Given the description of an element on the screen output the (x, y) to click on. 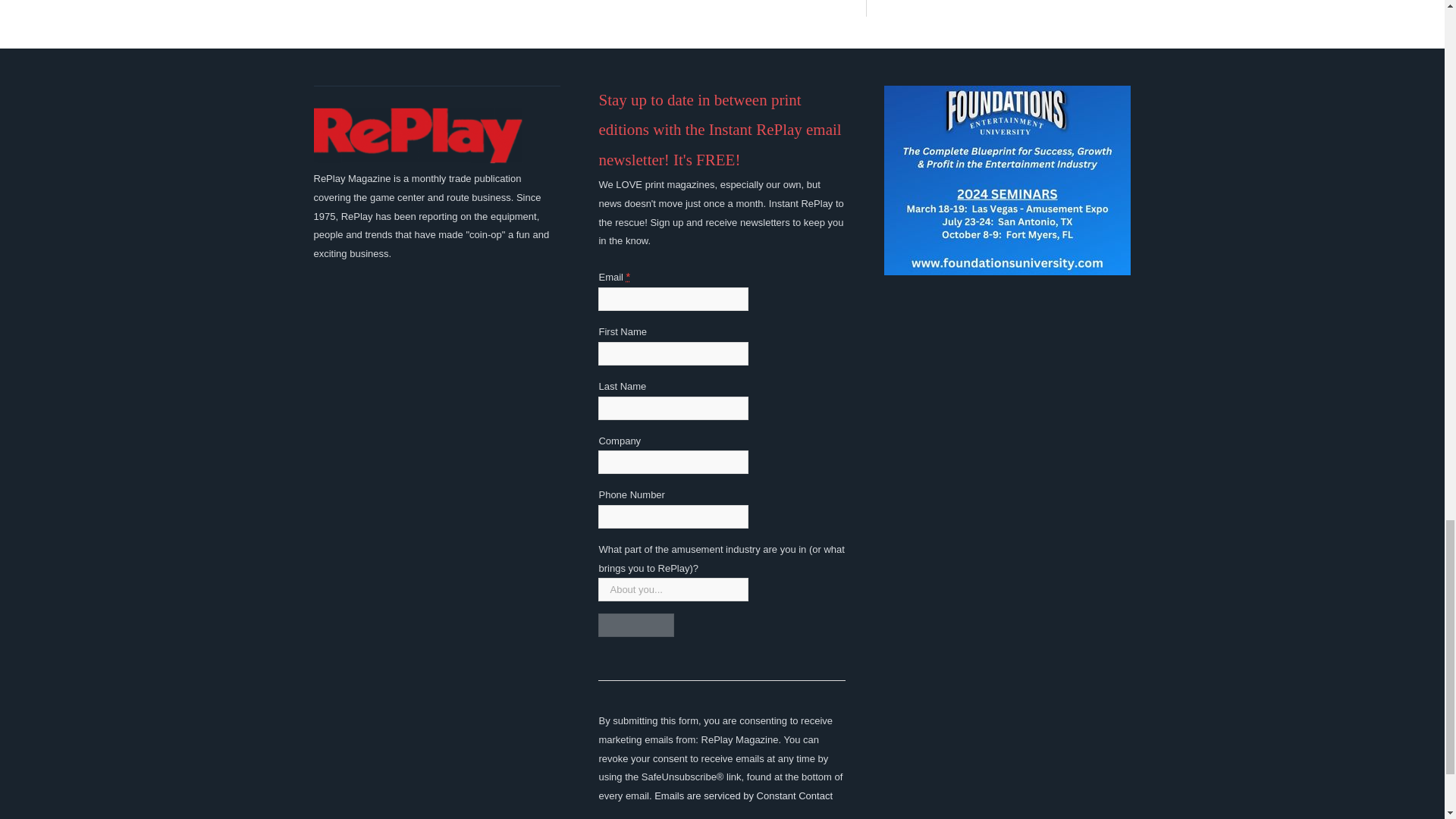
Sign me up! (635, 625)
